Given the description of an element on the screen output the (x, y) to click on. 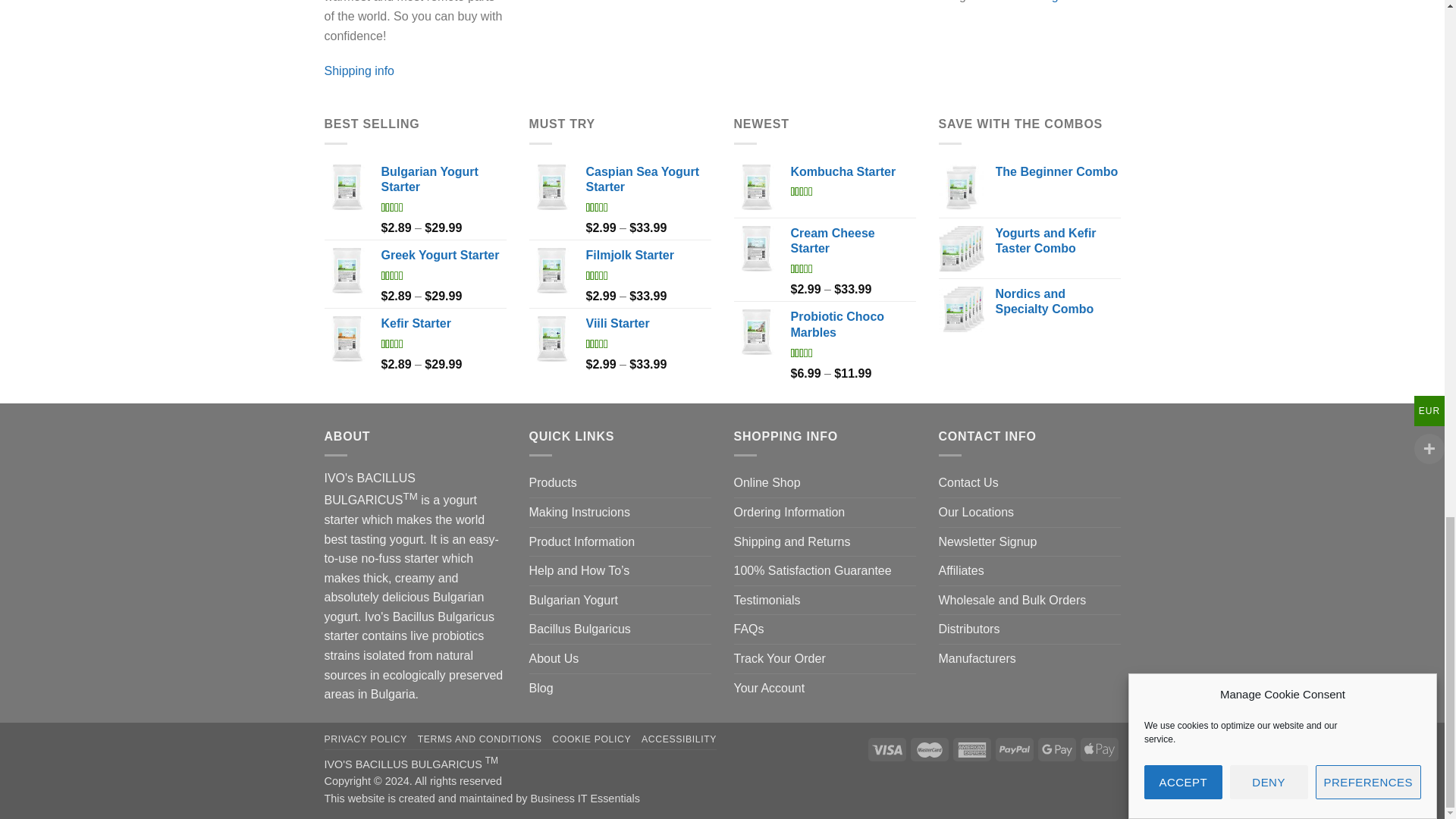
Kefir Starter (442, 324)
Filmjolk Starter (647, 255)
Bulgarian Yogurt Starter (442, 180)
Viili Starter (647, 324)
Greek Yogurt Starter (442, 255)
Caspian Sea Yogurt Starter (647, 180)
